Given the description of an element on the screen output the (x, y) to click on. 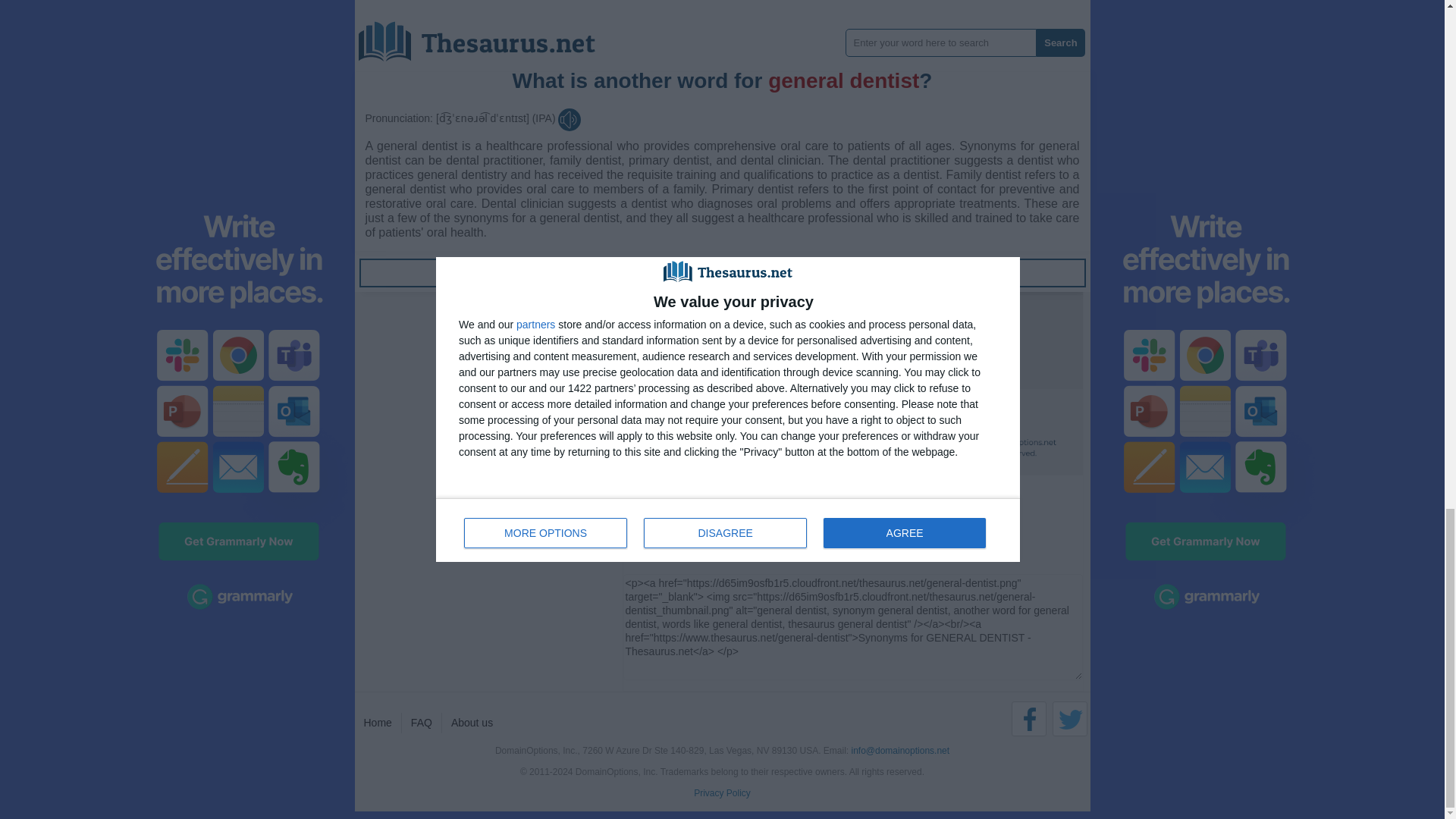
general employee (745, 39)
general election (745, 23)
general employees (745, 56)
general education (745, 7)
